Given the description of an element on the screen output the (x, y) to click on. 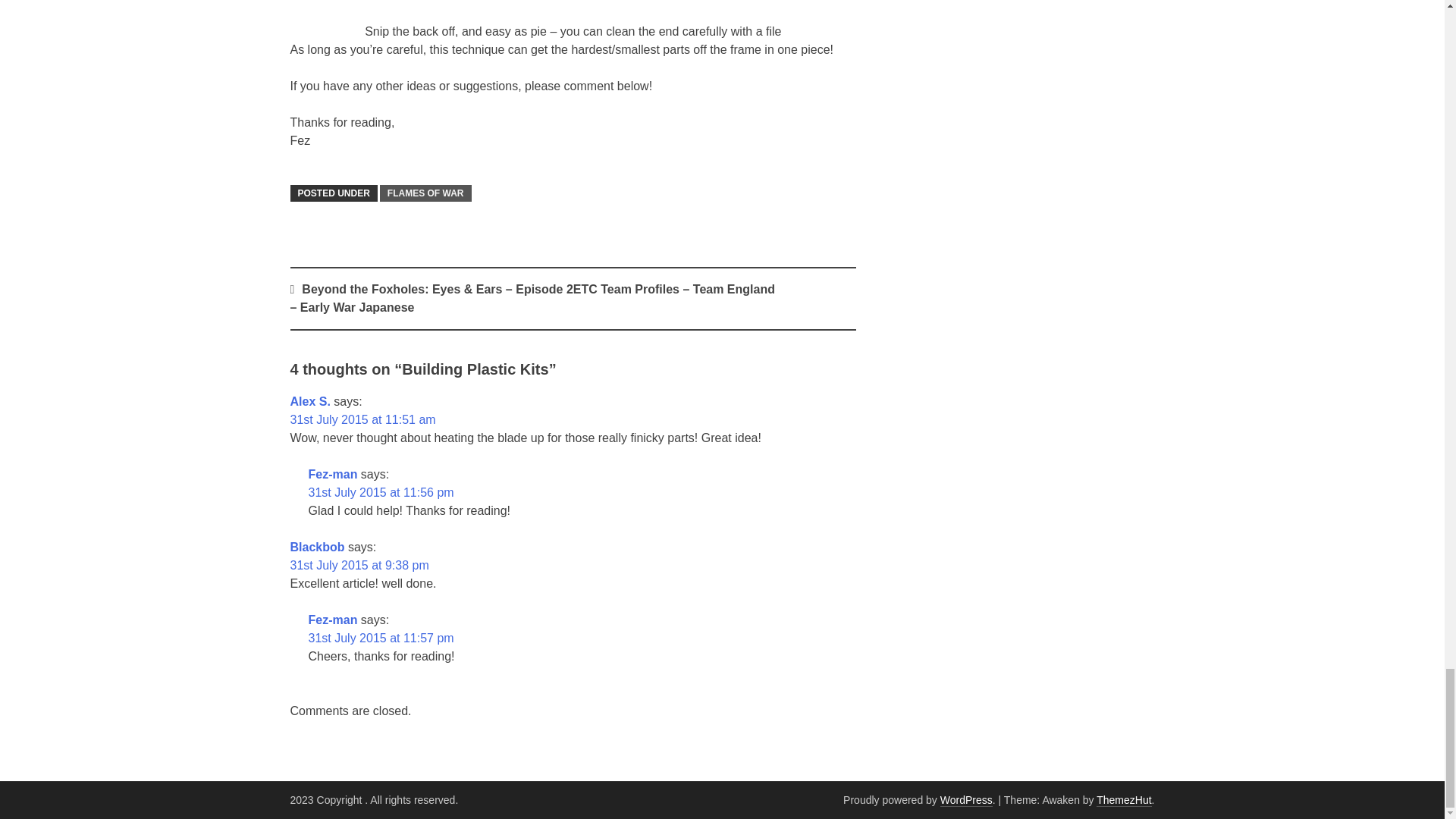
Alex S. (309, 400)
31st July 2015 at 9:38 pm (358, 564)
Fez-man (331, 619)
31st July 2015 at 11:56 pm (379, 492)
FLAMES OF WAR (425, 193)
31st July 2015 at 11:51 am (362, 419)
Blackbob (316, 546)
WordPress (966, 799)
Fez-man (331, 473)
31st July 2015 at 11:57 pm (379, 637)
